Given the description of an element on the screen output the (x, y) to click on. 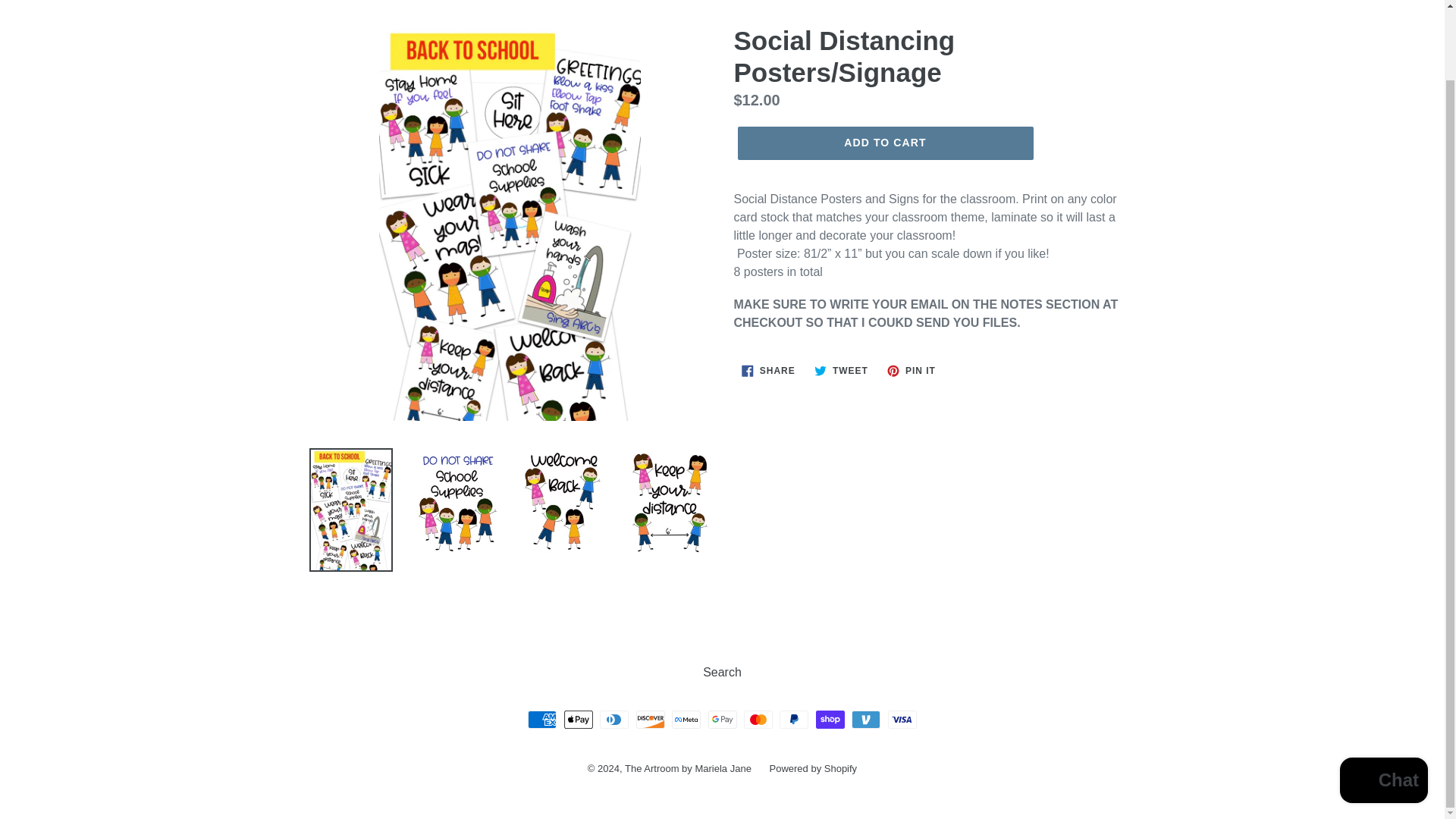
The Artroom by Mariela Jane (911, 370)
Search (768, 370)
ADD TO CART (689, 767)
Powered by Shopify (722, 671)
Shopify online store chat (884, 142)
